Given the description of an element on the screen output the (x, y) to click on. 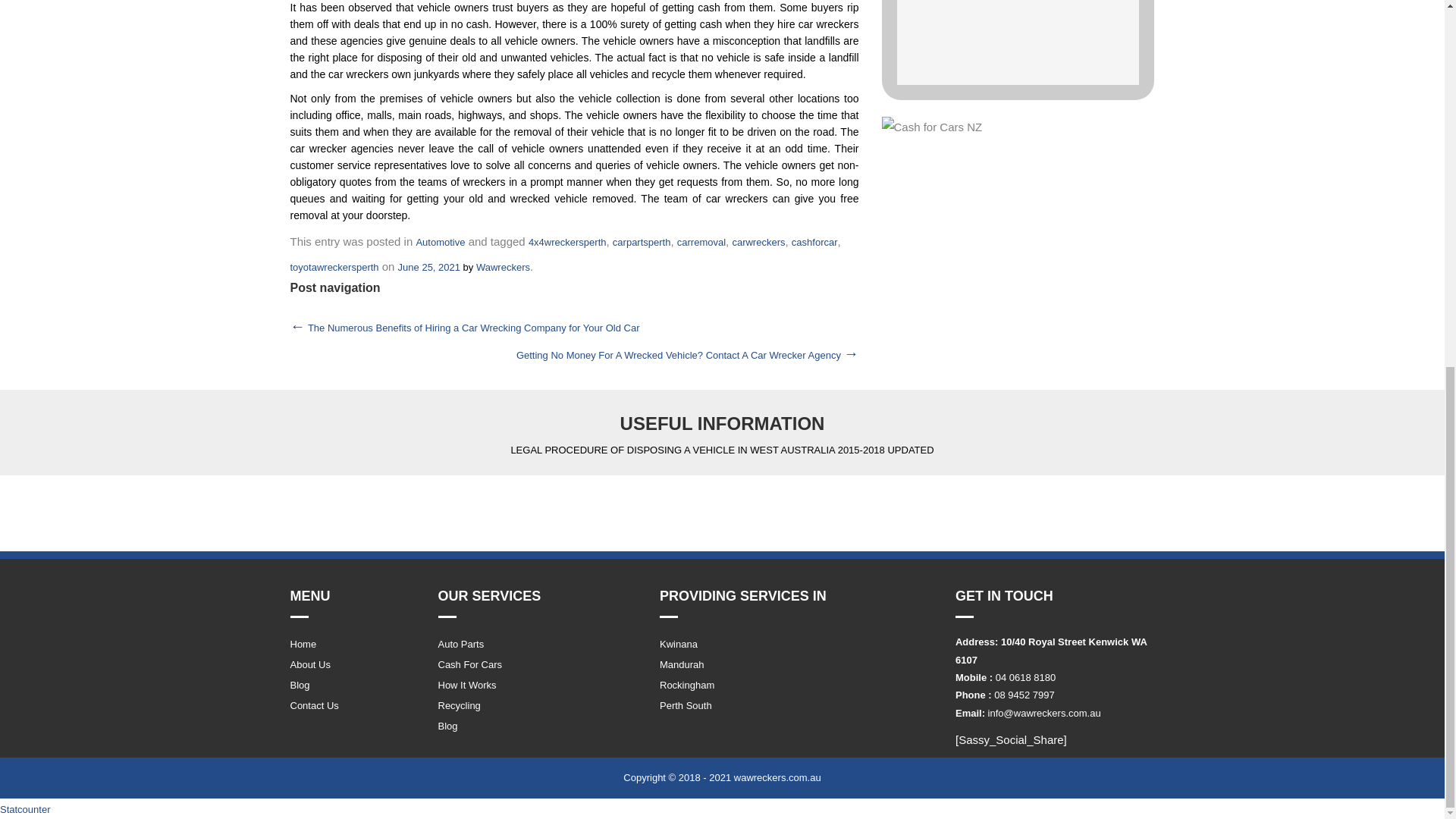
4x4wreckersperth (567, 242)
June 25, 2021 (428, 266)
carwreckers (758, 242)
toyotawreckersperth (333, 266)
5:57 pm (428, 266)
View all posts by Wawreckers (502, 266)
Automotive (439, 242)
cashforcar (815, 242)
carremoval (701, 242)
carpartsperth (641, 242)
Wawreckers (502, 266)
